Given the description of an element on the screen output the (x, y) to click on. 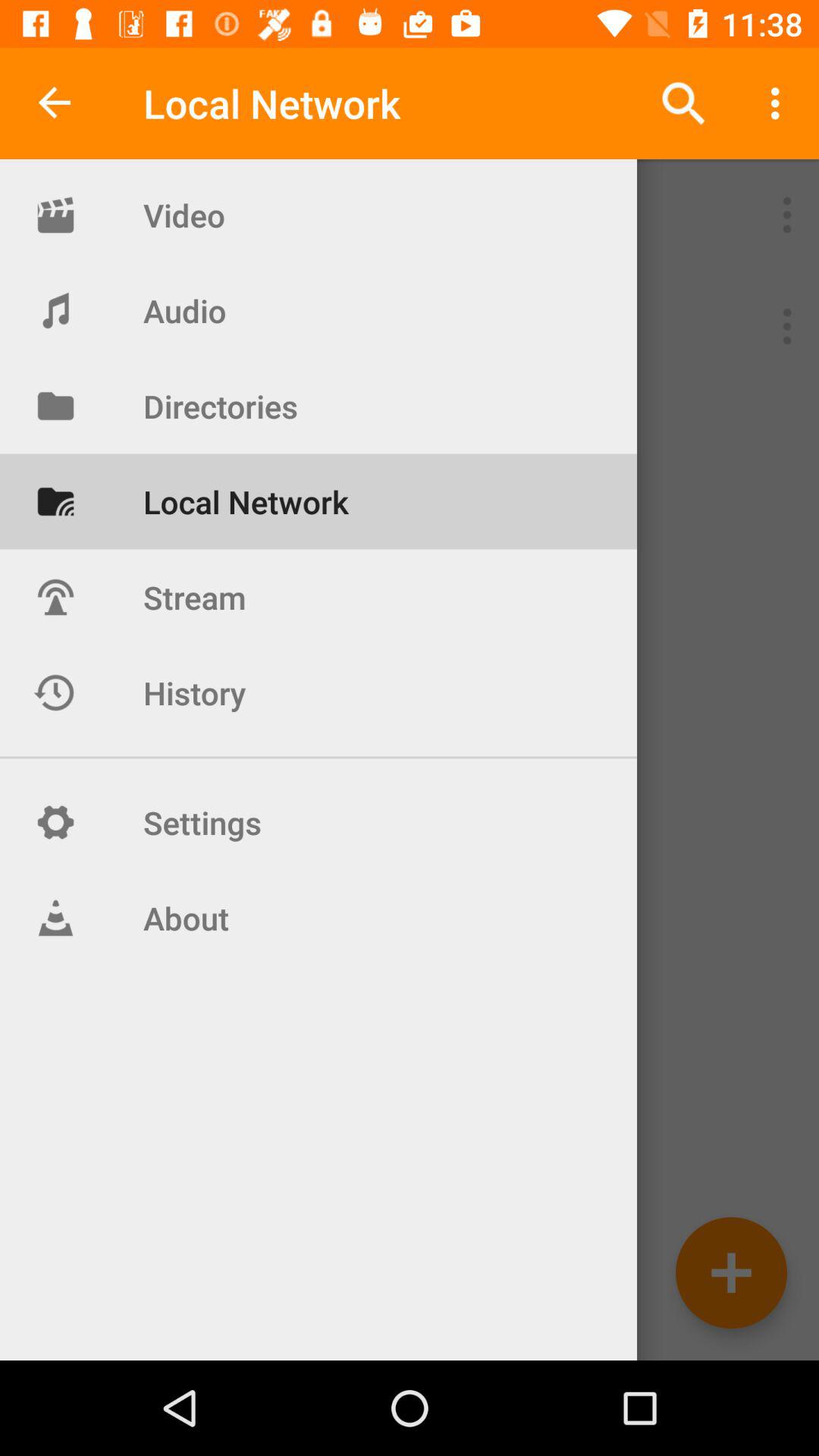
add network (731, 1272)
